Given the description of an element on the screen output the (x, y) to click on. 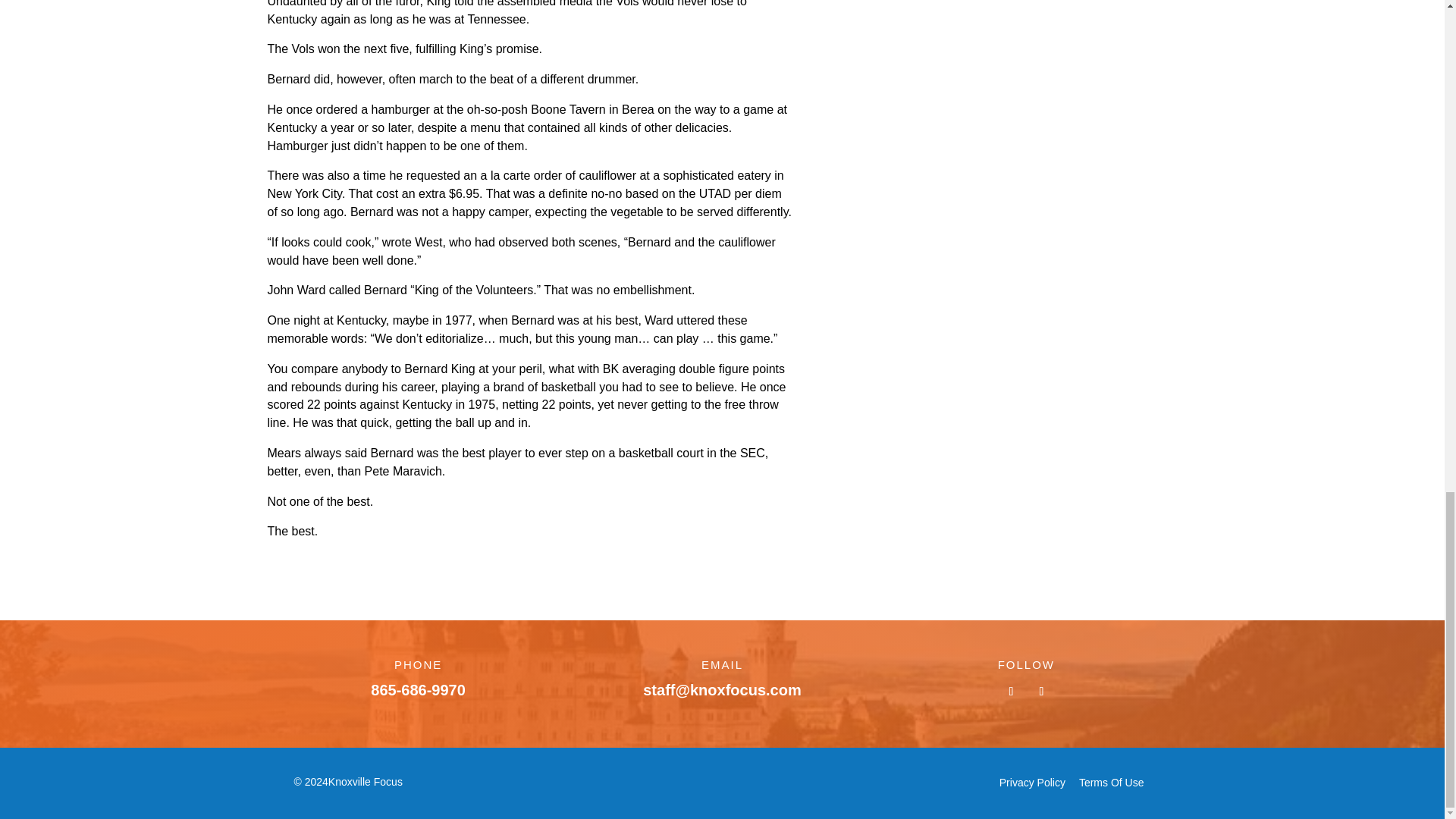
Follow on X (1040, 691)
Follow on Facebook (1010, 691)
